Given the description of an element on the screen output the (x, y) to click on. 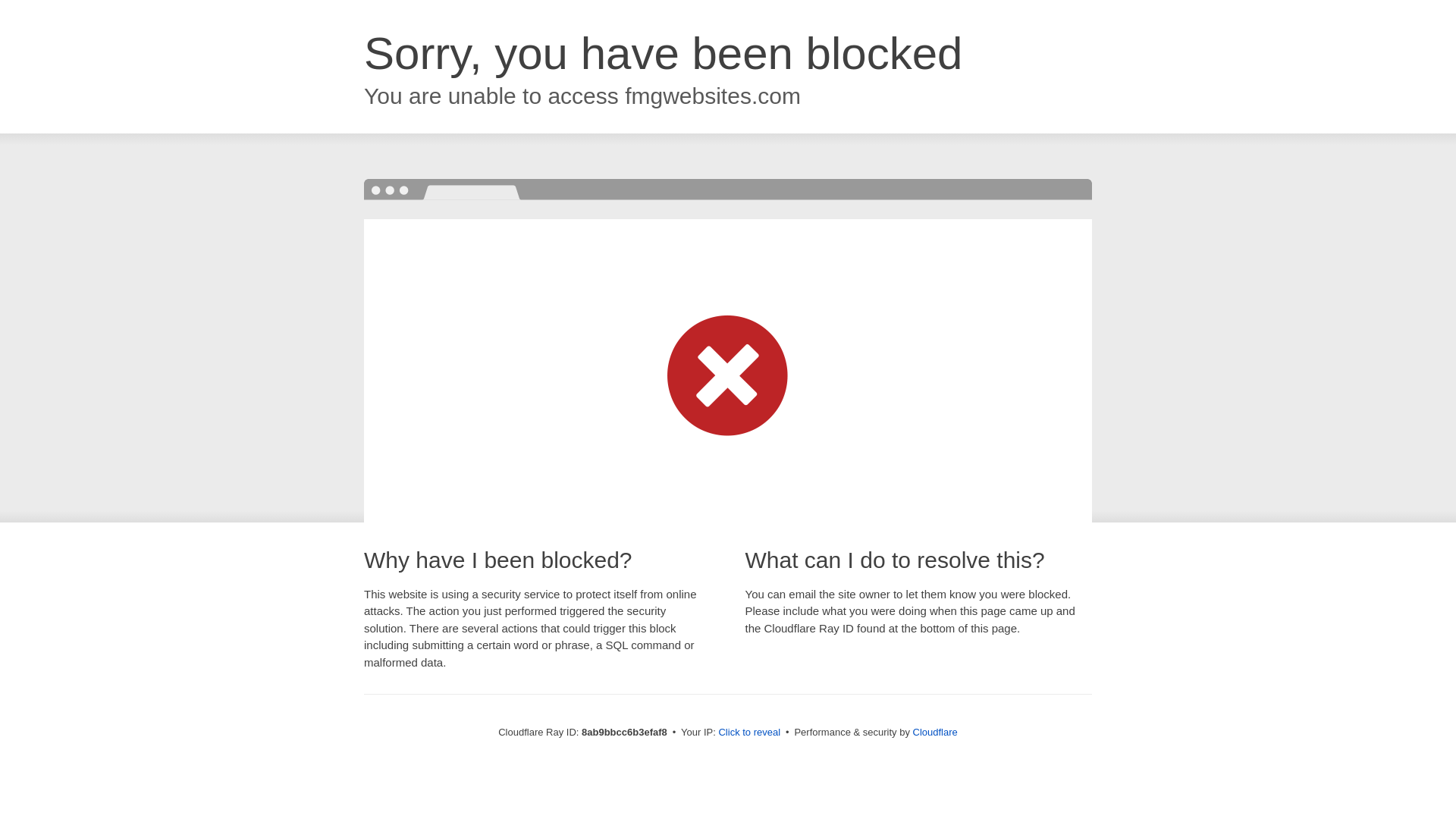
Cloudflare (935, 731)
Click to reveal (748, 732)
